Given the description of an element on the screen output the (x, y) to click on. 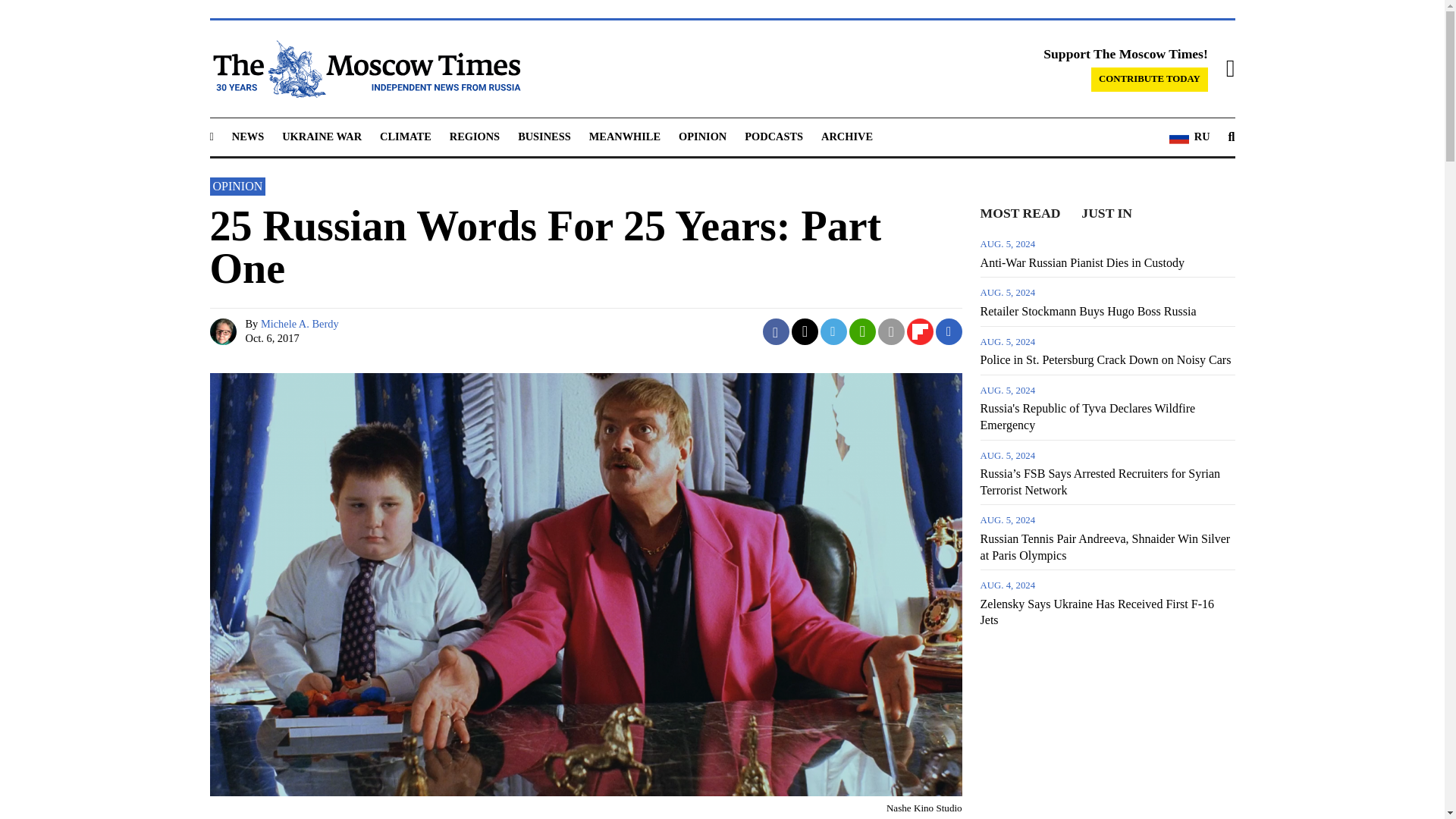
Share on Twitter (805, 331)
Michele A. Berdy (224, 331)
CONTRIBUTE TODAY (1149, 79)
Michele A. Berdy (299, 323)
PODCASTS (773, 136)
ARCHIVE (846, 136)
REGIONS (474, 136)
NEWS (247, 136)
Share on Flipboard (920, 331)
Share on Facebook (775, 331)
RU (1189, 137)
The Moscow Times - Independent News from Russia (364, 68)
OPINION (702, 136)
UKRAINE WAR (321, 136)
MEANWHILE (625, 136)
